Given the description of an element on the screen output the (x, y) to click on. 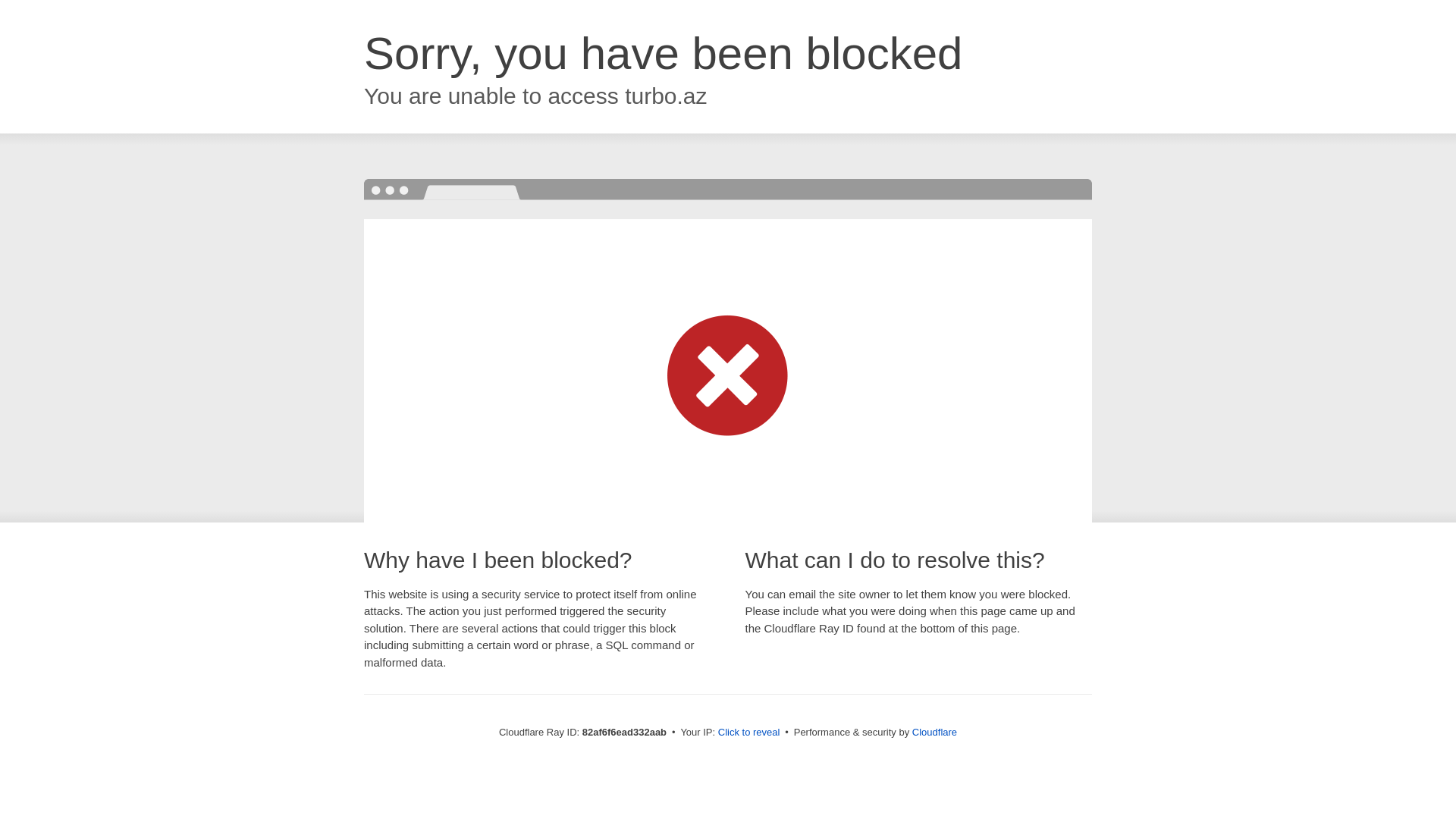
Cloudflare Element type: text (934, 731)
Click to reveal Element type: text (749, 732)
